Given the description of an element on the screen output the (x, y) to click on. 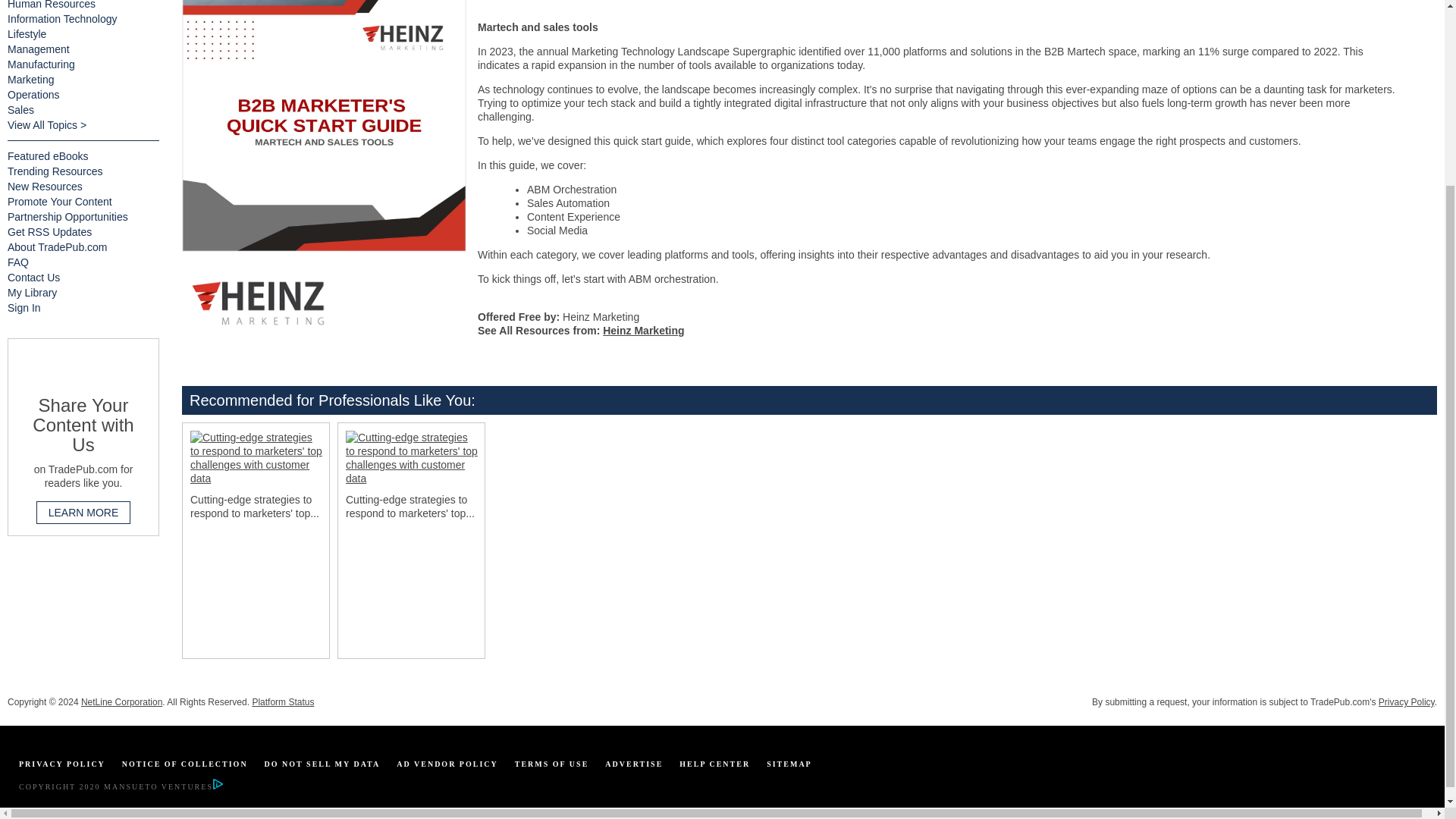
Get more information about sitemap on Inc.com (789, 764)
Get more information about Notice of collection on Inc.com (184, 764)
Get more information about terms of use on Inc.com (552, 764)
Get more information about Privacy policy on Inc.com (61, 764)
Get more information about do not sell my data on Inc.com (322, 764)
Get more information about Advertise on Inc.com (633, 764)
Get more information about Ad vendor policy on Inc.com (446, 764)
Read more about your Ad Choices (217, 786)
Get more information about help Center on Inc.com (714, 764)
